Given the description of an element on the screen output the (x, y) to click on. 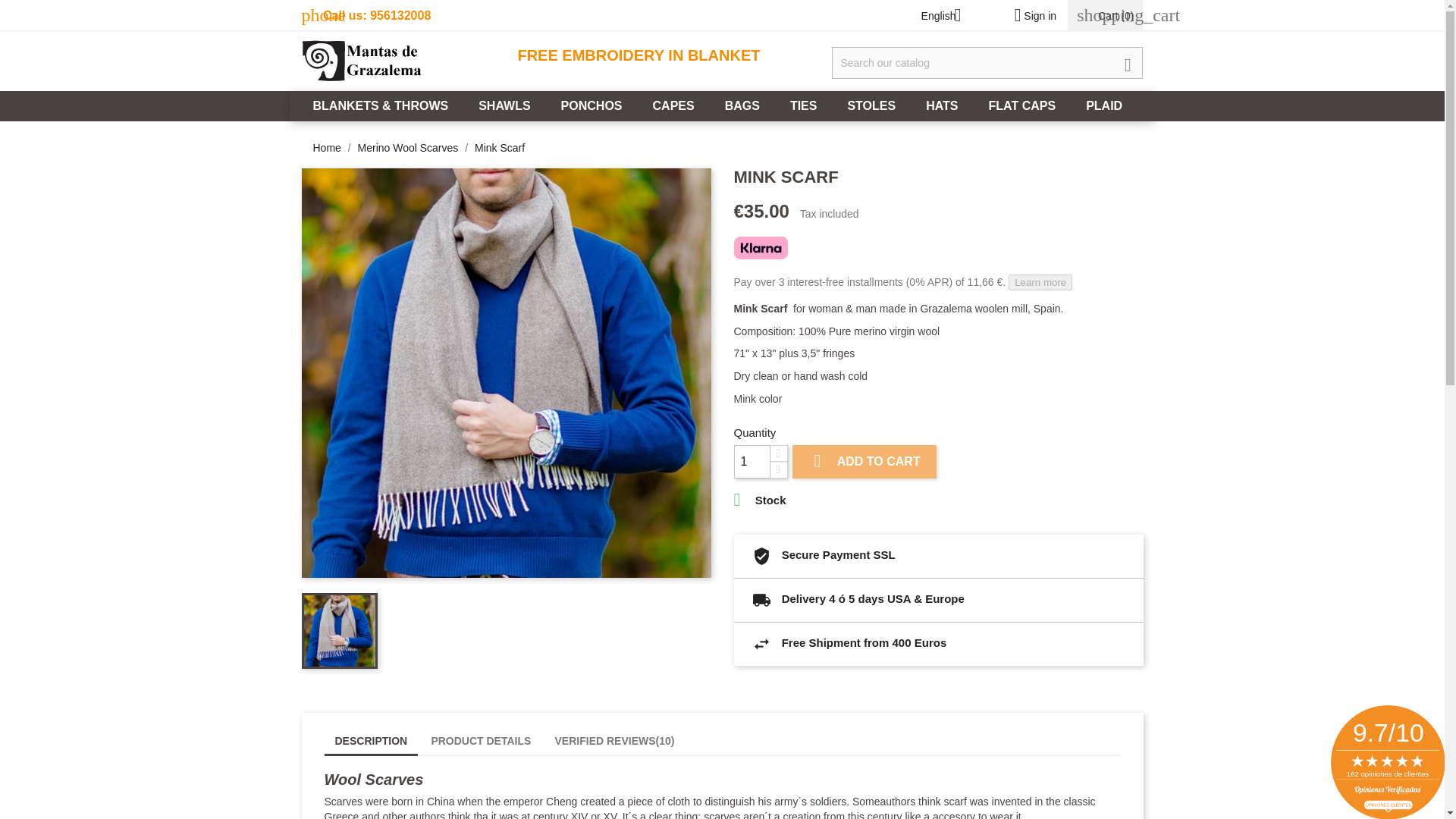
Shawls (503, 105)
PONCHOS (591, 105)
Ponchos (591, 105)
Log in to your customer account (1030, 15)
CAPES (673, 105)
STOLES (871, 105)
TIES (803, 105)
FLAT CAPS (1022, 105)
BAGS (742, 105)
1 (751, 461)
HATS (941, 105)
SHAWLS (503, 105)
